Given the description of an element on the screen output the (x, y) to click on. 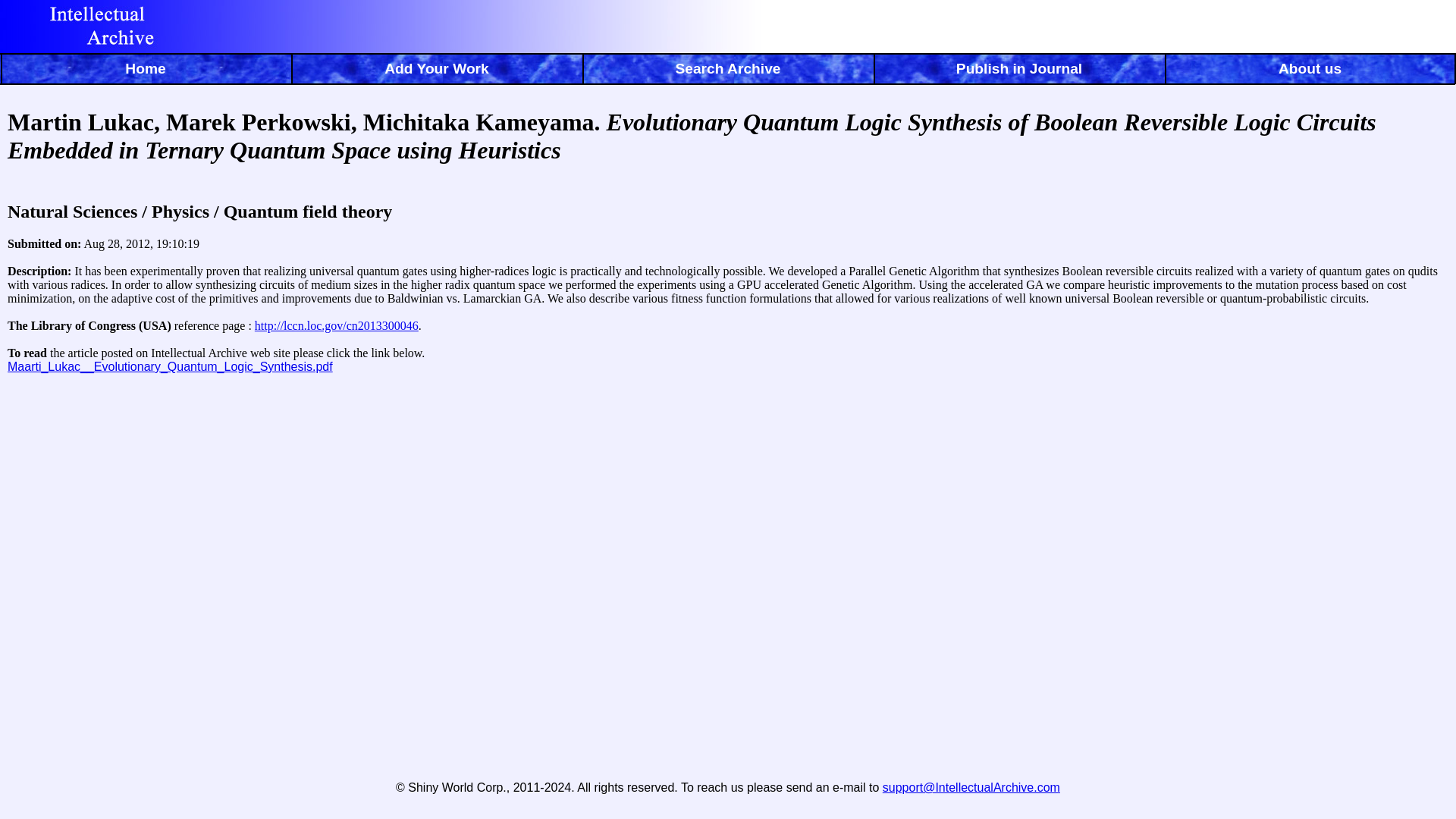
About us (1309, 71)
Search Archive (727, 71)
Add Your Work (436, 71)
Publish in Journal (1018, 71)
Home (145, 71)
